Given the description of an element on the screen output the (x, y) to click on. 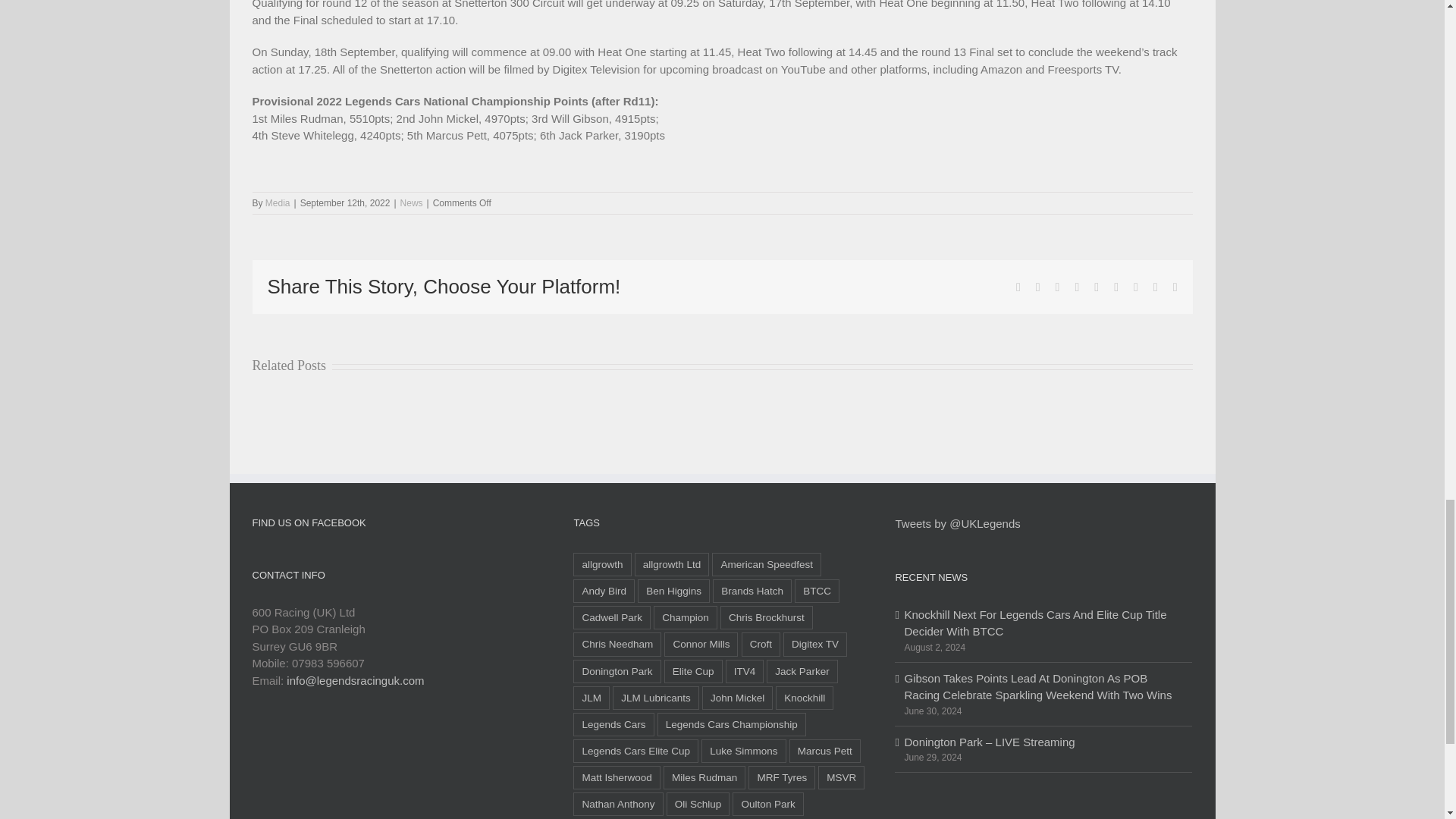
Posts by Media (276, 203)
